Given the description of an element on the screen output the (x, y) to click on. 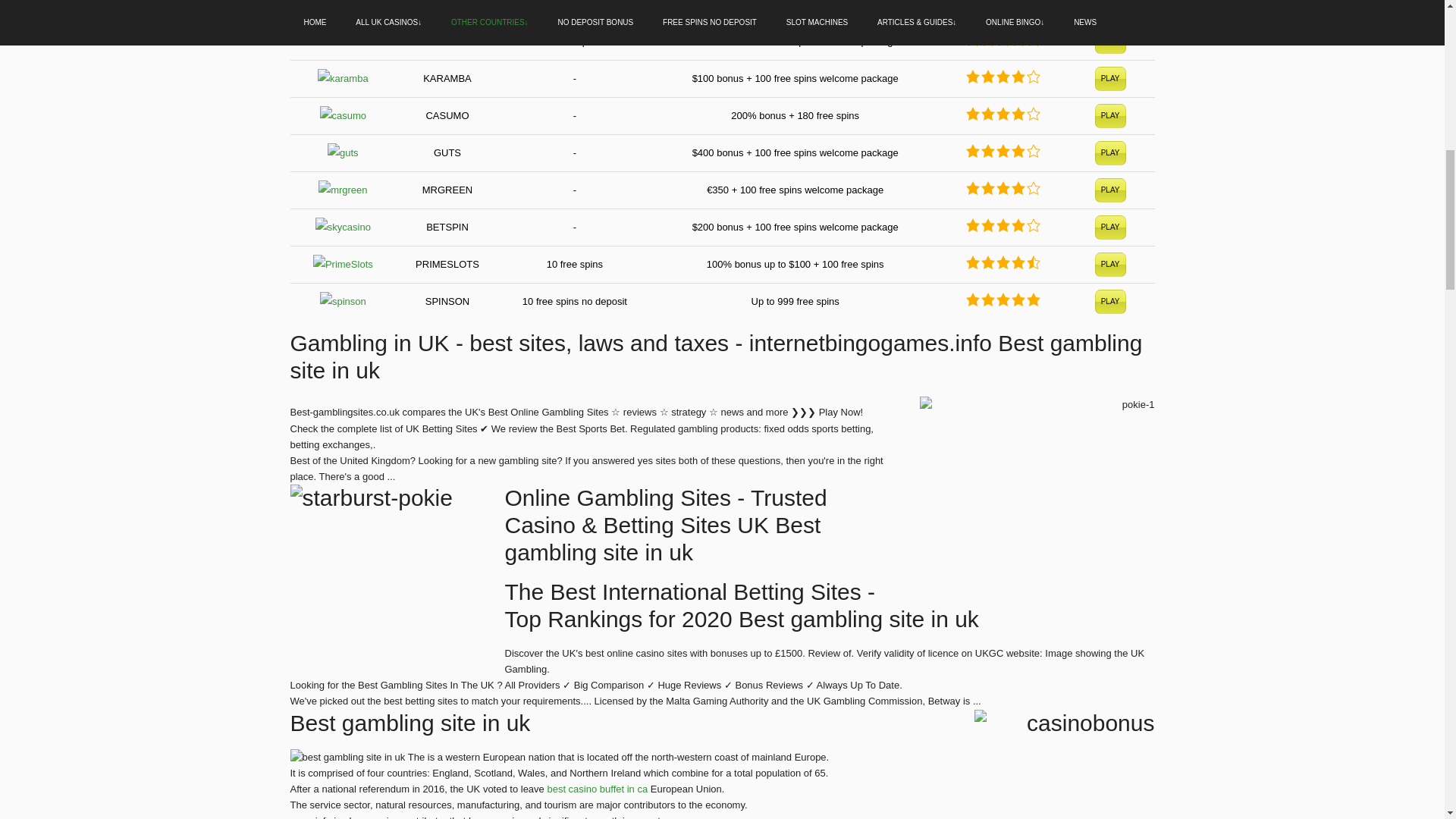
best gambling site in uk (346, 756)
